Given the description of an element on the screen output the (x, y) to click on. 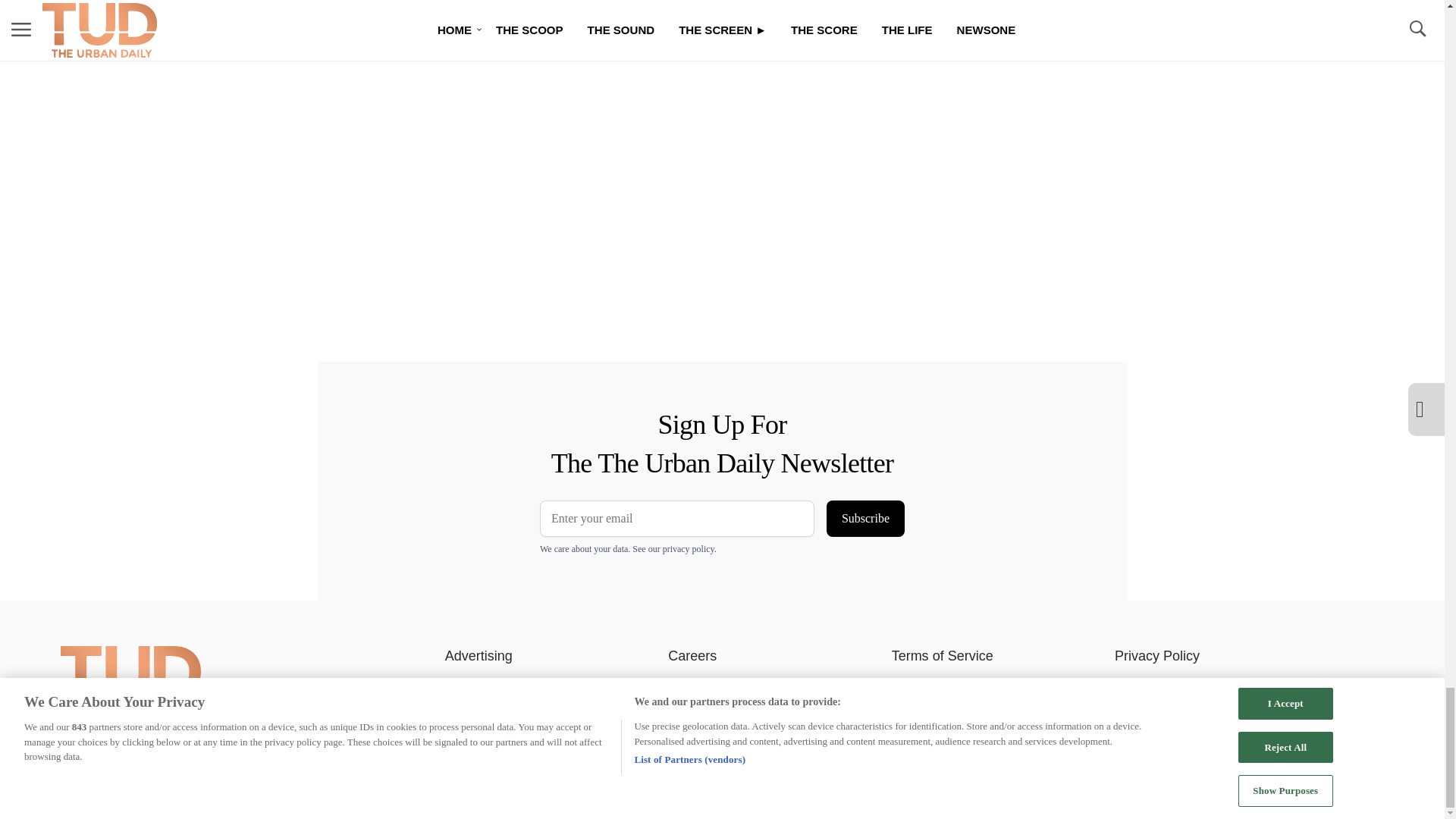
Vuukle Comments Widget (585, 19)
